Given the description of an element on the screen output the (x, y) to click on. 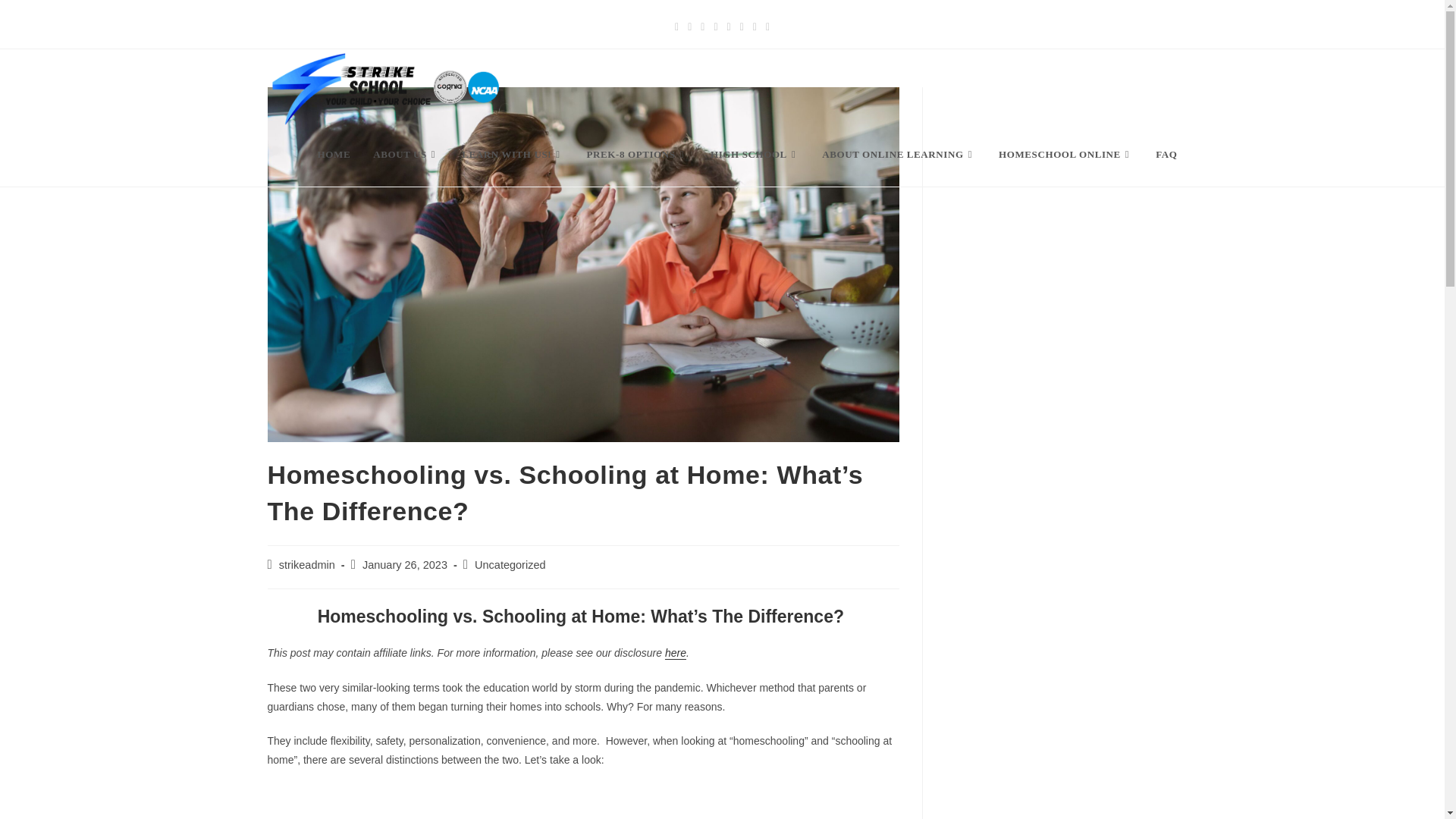
PREK-8 OPTIONS (636, 154)
ABOUT US (405, 154)
HOME (333, 154)
LEARN WITH US! (512, 154)
Posts by strikeadmin (306, 564)
